Given the description of an element on the screen output the (x, y) to click on. 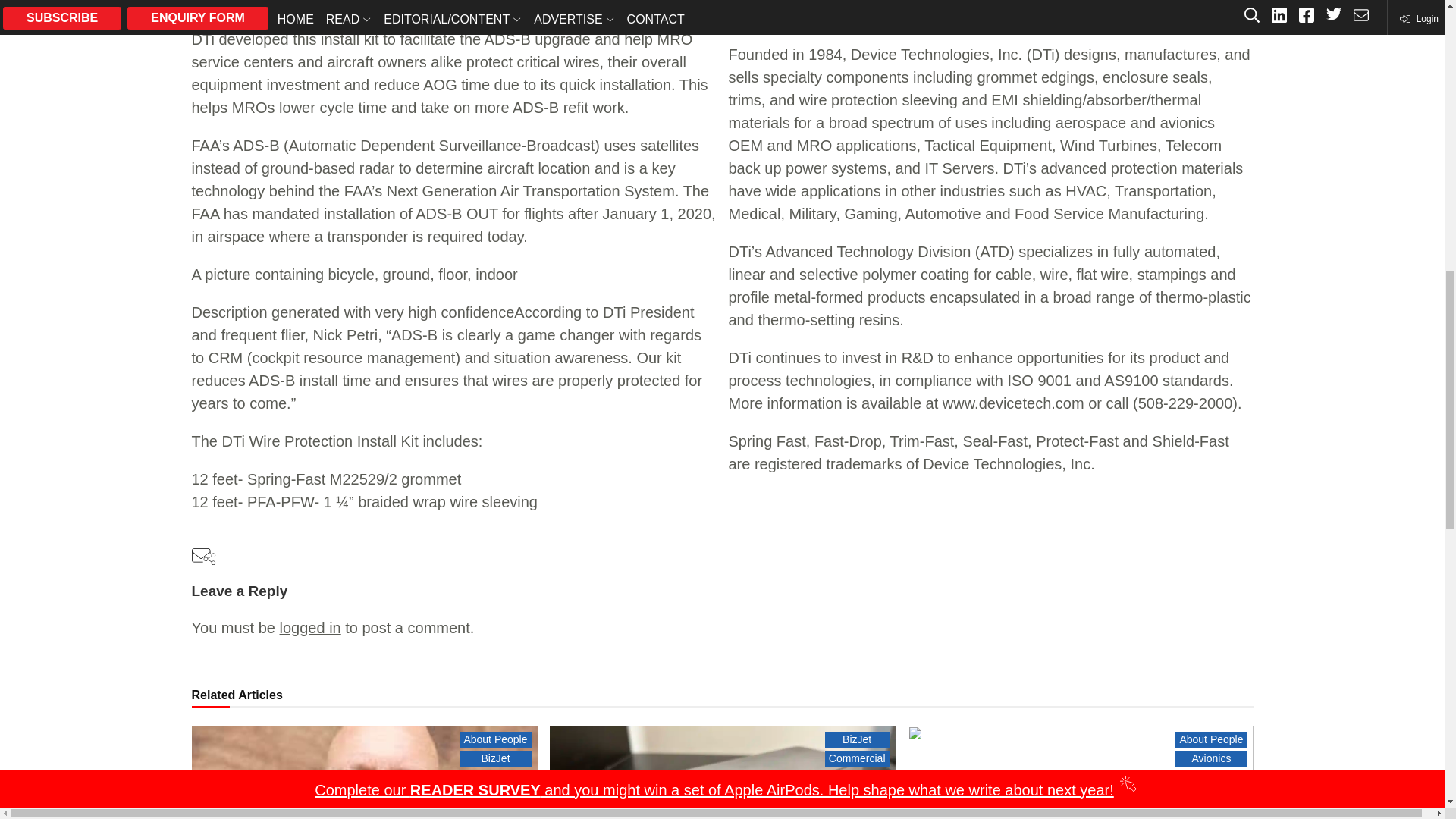
BizJet (495, 758)
Share by Email (202, 557)
About People (495, 739)
logged in (309, 627)
